Given the description of an element on the screen output the (x, y) to click on. 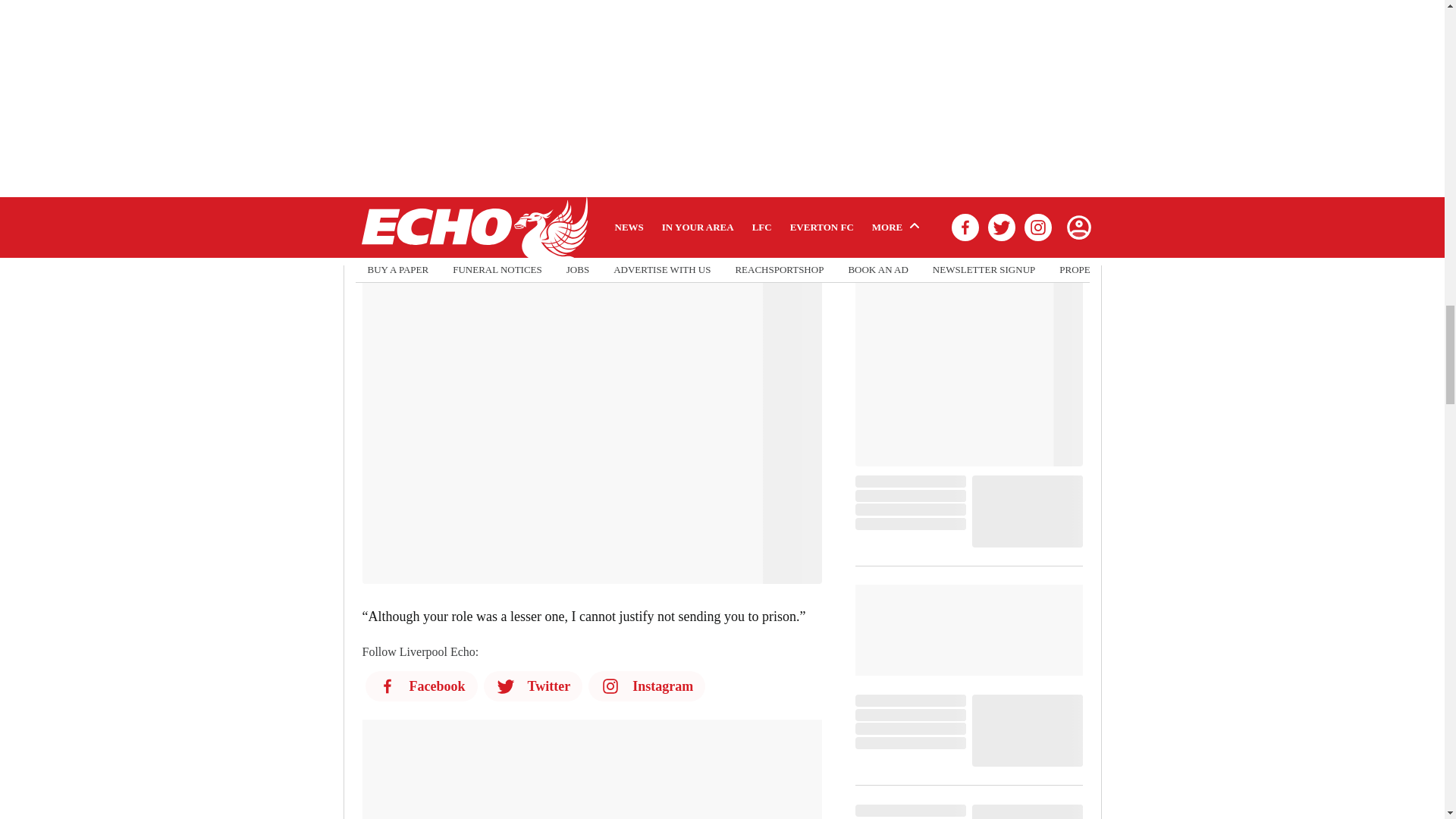
Facebook (421, 685)
Instagram (646, 685)
Twitter (533, 685)
